Given the description of an element on the screen output the (x, y) to click on. 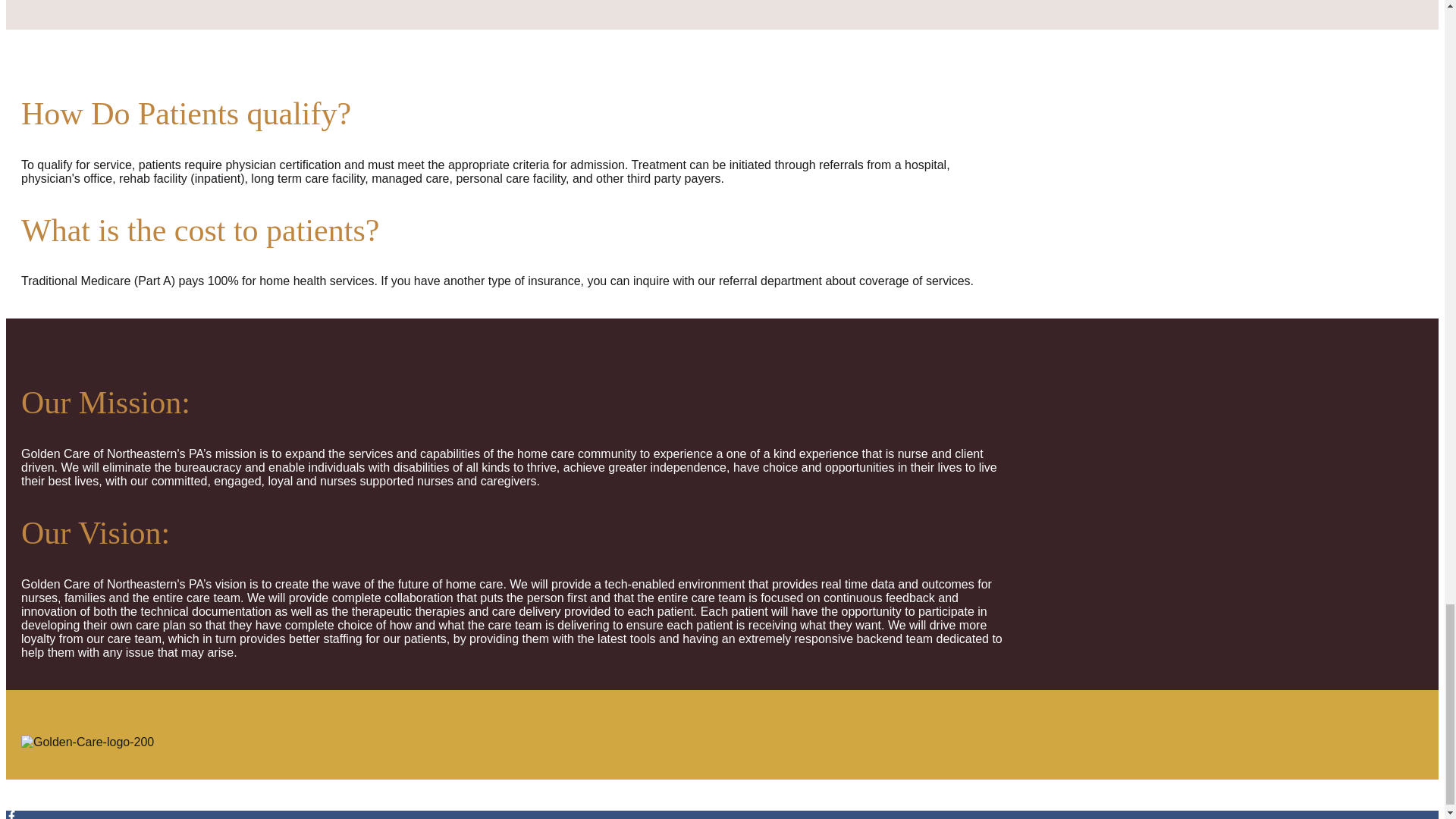
Golden-Care-logo-200 (87, 742)
